Given the description of an element on the screen output the (x, y) to click on. 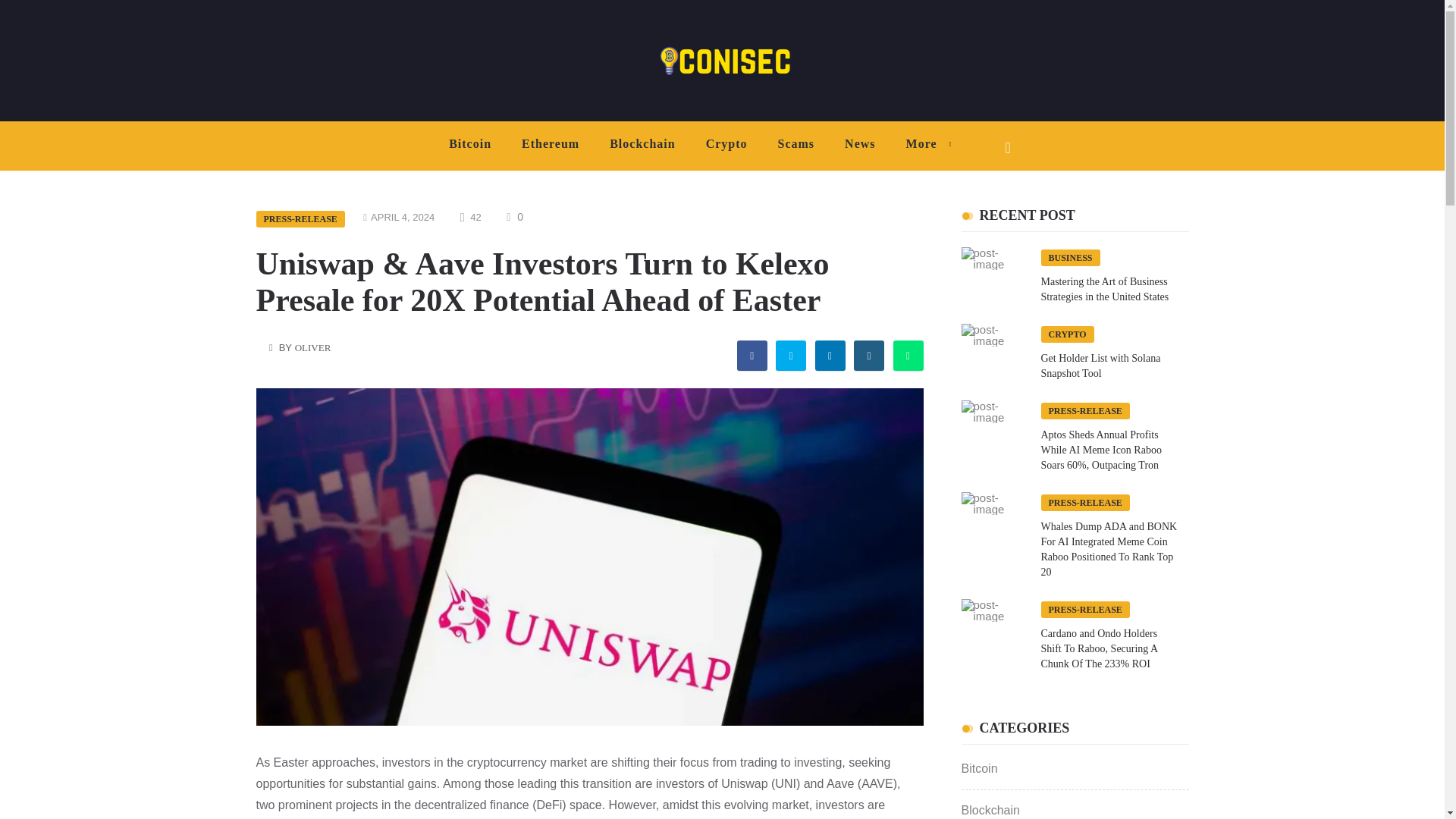
APRIL 4, 2024 (402, 216)
Bitcoin (469, 144)
Ethereum (550, 144)
Crypto (726, 144)
OLIVER (313, 347)
PRESS-RELEASE (300, 218)
News (859, 144)
0 (514, 216)
Scams (795, 144)
Blockchain (642, 144)
More (925, 144)
